Given the description of an element on the screen output the (x, y) to click on. 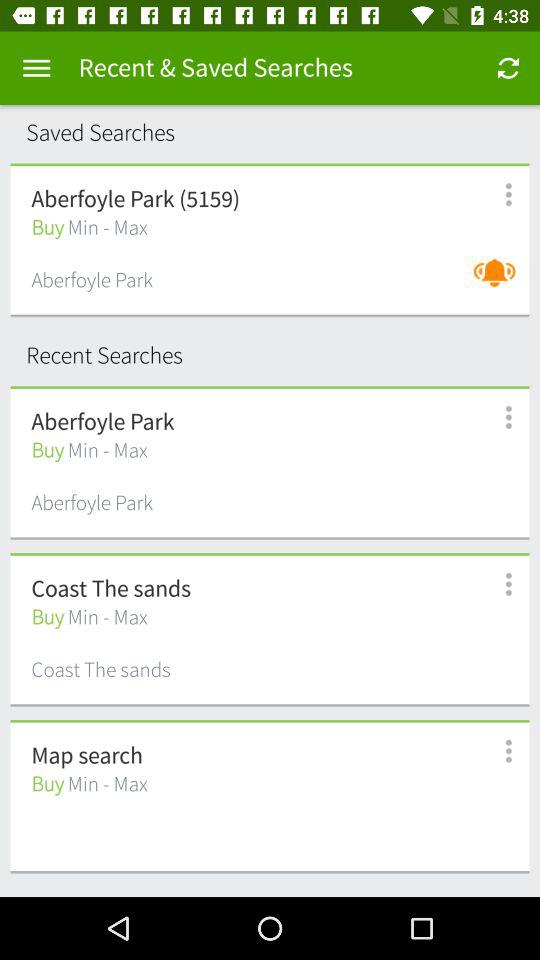
click the notification button (499, 282)
select the option beside aberfoyle park (498, 417)
